Given the description of an element on the screen output the (x, y) to click on. 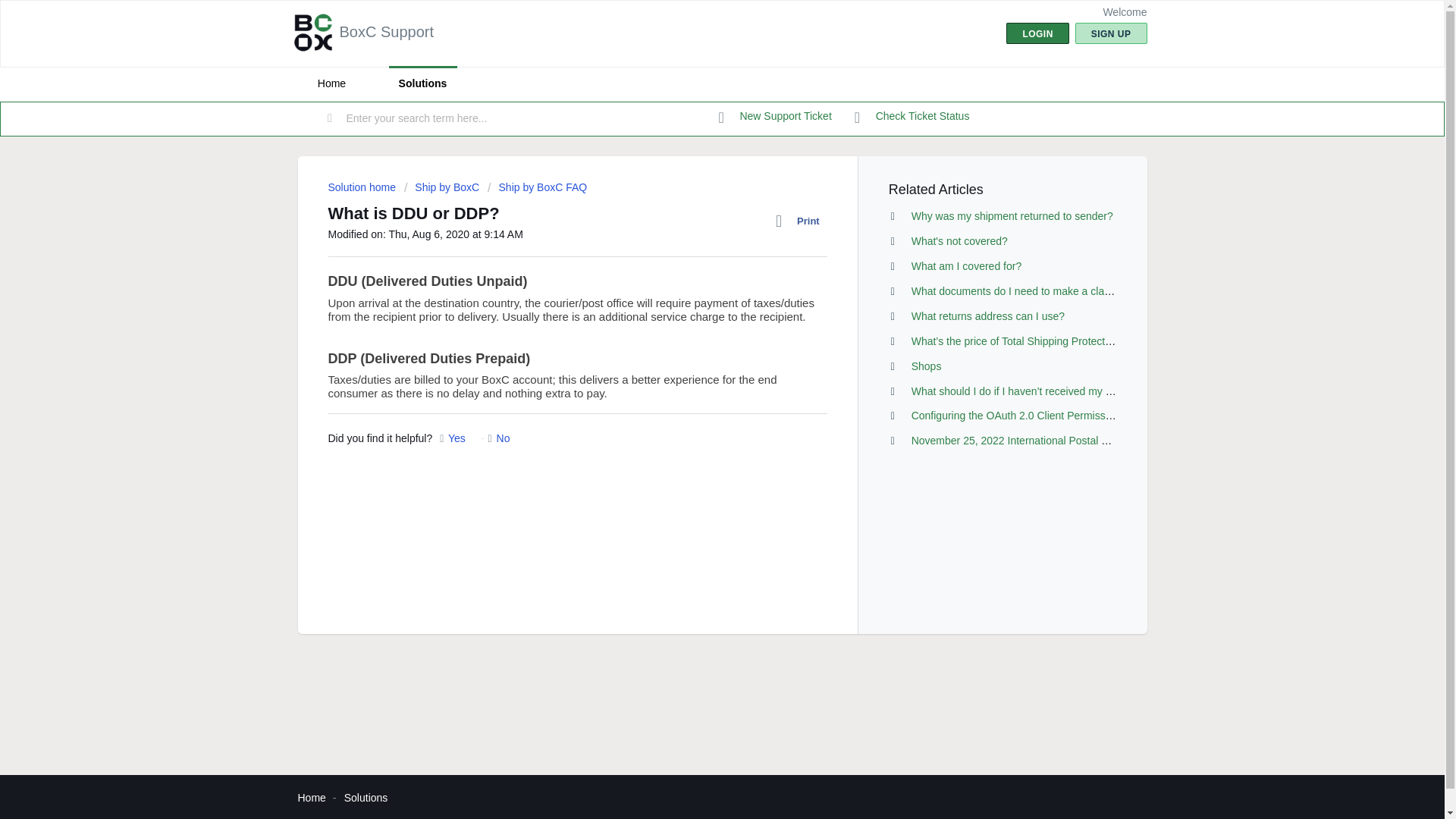
What am I covered for? (966, 265)
Print this Article (801, 220)
Check ticket status (911, 116)
November 25, 2022 International Postal Notices (1024, 440)
Print (801, 220)
Shops (926, 366)
Solutions (365, 797)
Check Ticket Status (911, 116)
Configuring the OAuth 2.0 Client Permissions (1018, 415)
SIGN UP (1111, 33)
Home (331, 83)
What returns address can I use? (987, 316)
Ship by BoxC FAQ (536, 186)
Solutions (422, 83)
What's not covered? (959, 241)
